Given the description of an element on the screen output the (x, y) to click on. 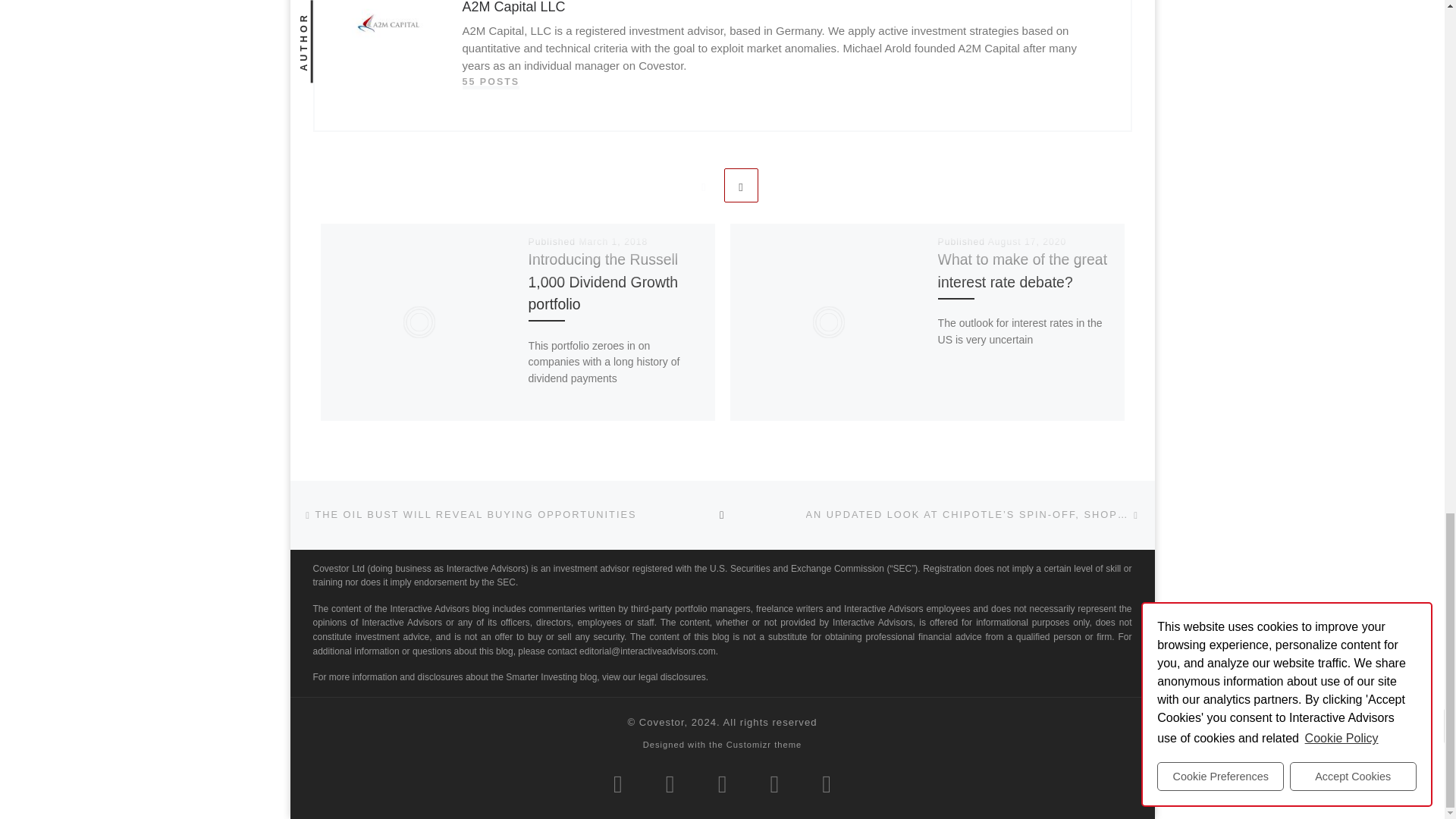
Previous related articles (702, 185)
55 POSTS (491, 82)
Next related articles (740, 185)
August 17, 2020 (1027, 241)
What to make of the great interest rate debate? (1021, 269)
View all the posts of the author (491, 82)
Smarter Investing (661, 722)
Customizr theme (764, 744)
Introducing the Russell 1,000 Dividend Growth portfolio (603, 281)
March 1, 2018 (612, 241)
